Given the description of an element on the screen output the (x, y) to click on. 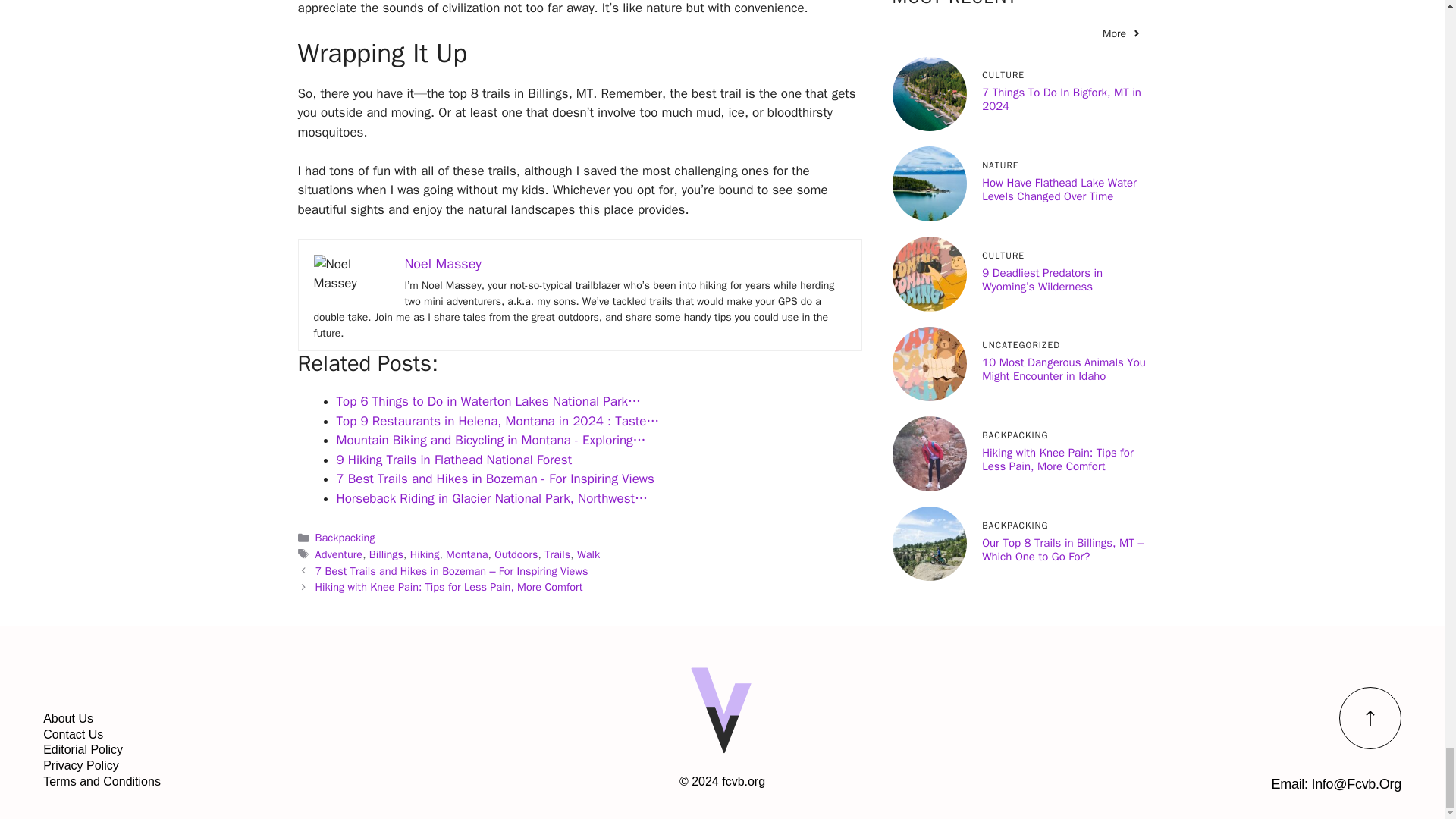
Montana (466, 554)
7 Best Trails and Hikes in Bozeman - For Inspiring Views (494, 478)
Outdoors (516, 554)
Backpacking (345, 537)
Billings (386, 554)
Adventure (338, 554)
9 Hiking Trails in Flathead National Forest (454, 459)
Hiking (424, 554)
Noel Massey (442, 263)
Trails (557, 554)
